Given the description of an element on the screen output the (x, y) to click on. 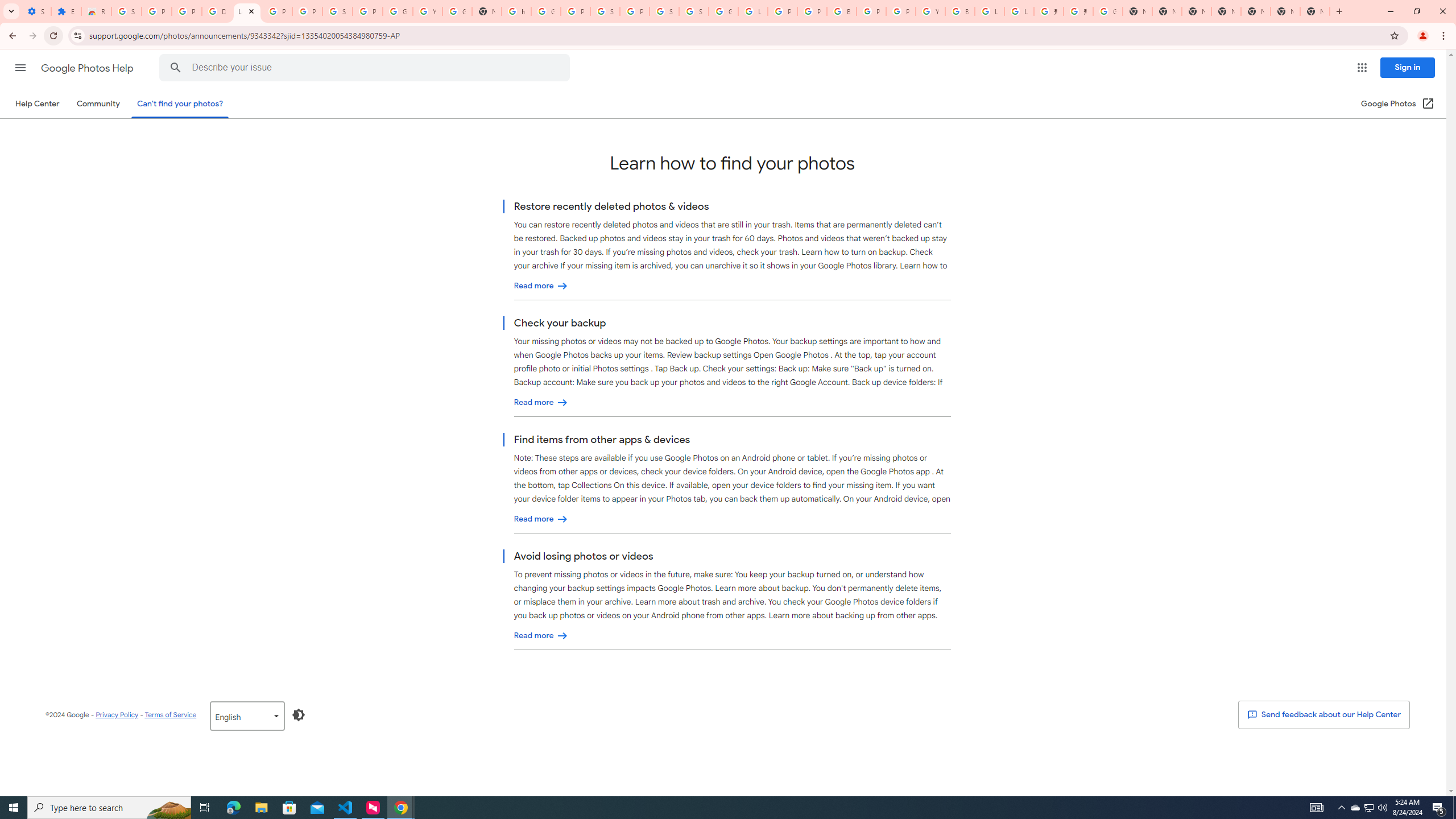
Restore recently deleted photos & videos (541, 286)
Check your backup (541, 402)
Sign in - Google Accounts (693, 11)
Search Help Center (176, 67)
